Given the description of an element on the screen output the (x, y) to click on. 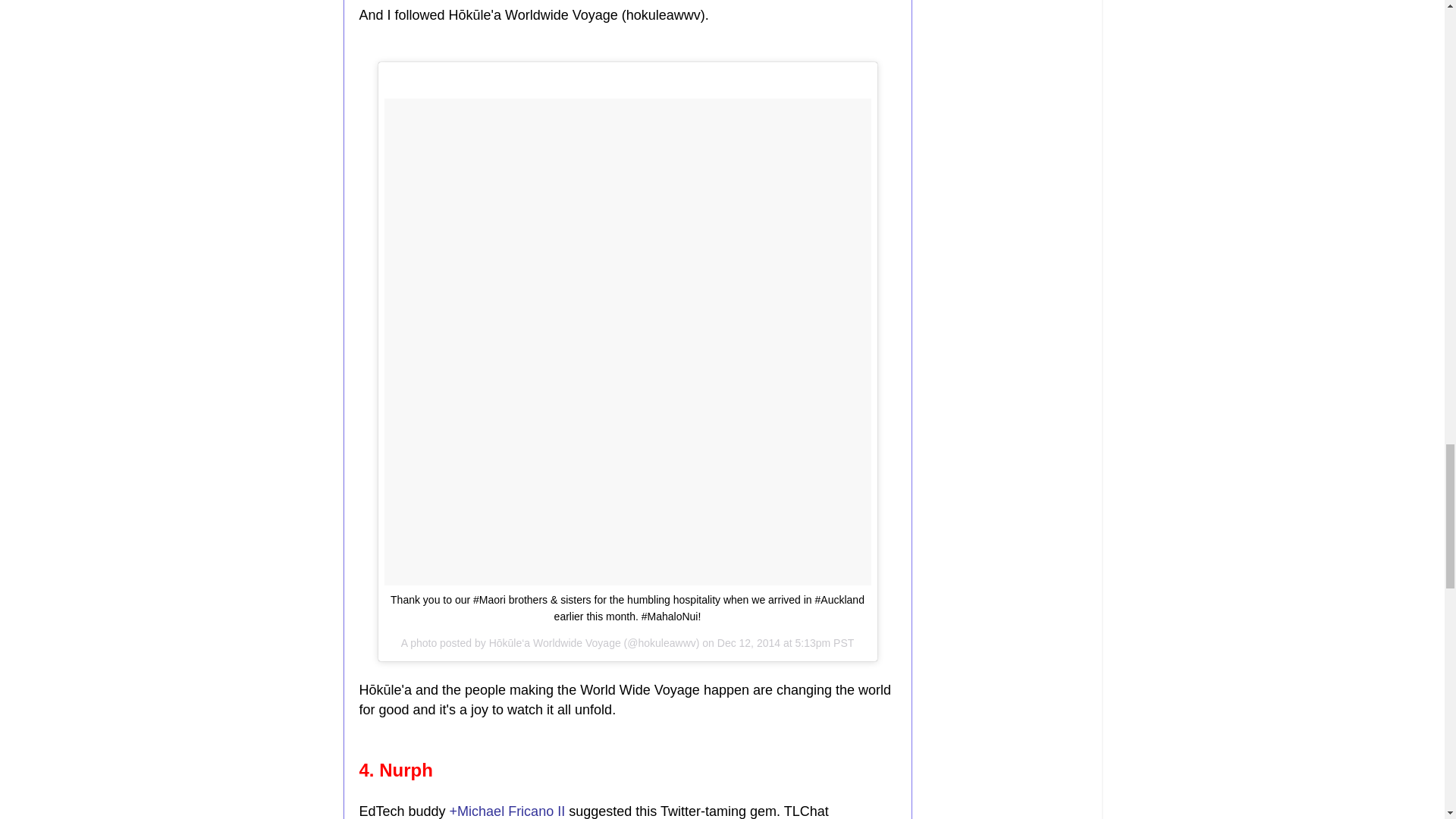
Nurph (405, 770)
